Given the description of an element on the screen output the (x, y) to click on. 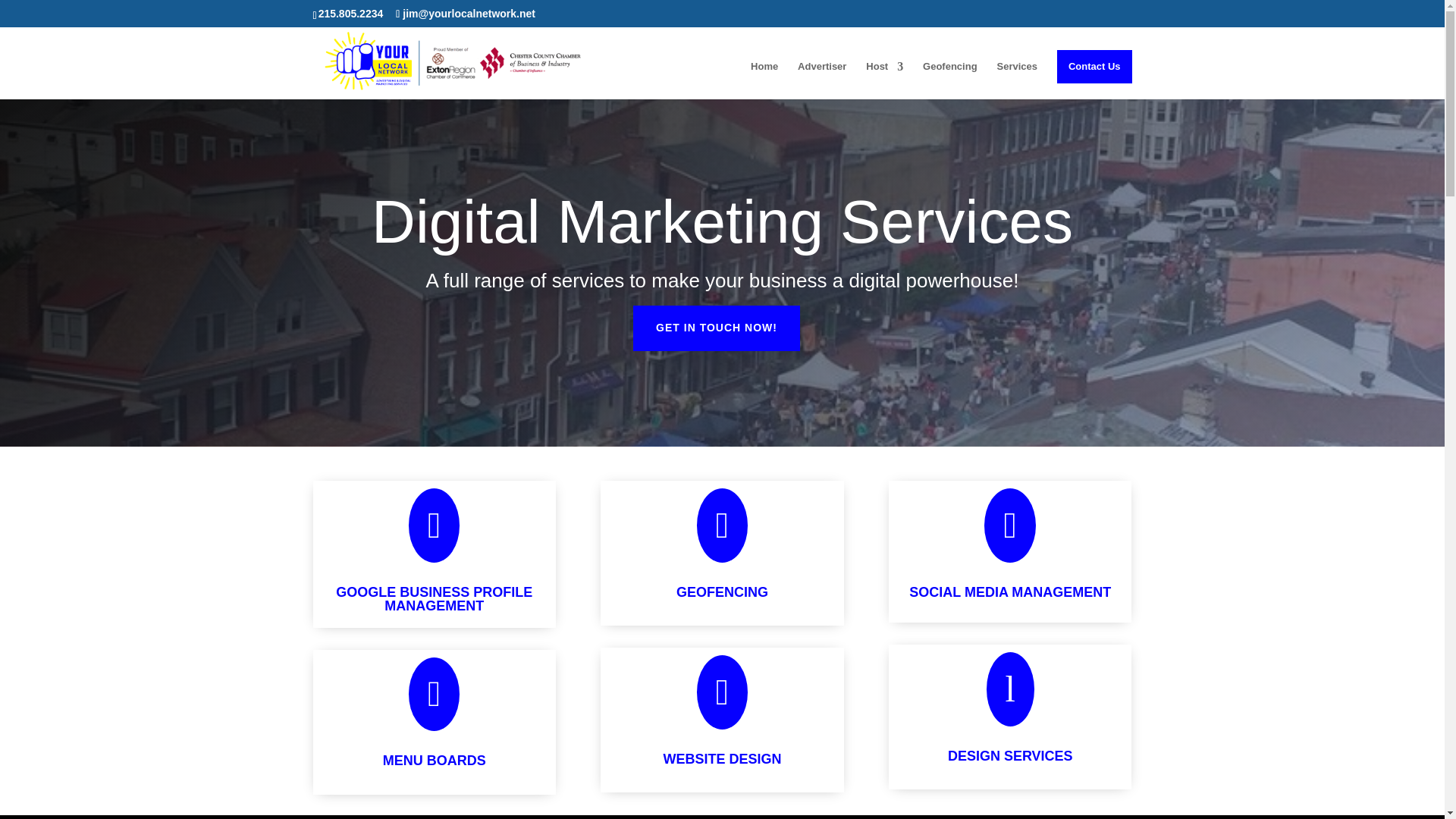
Geofencing (949, 80)
GET IN TOUCH NOW! (716, 328)
Advertiser (821, 80)
GEOFENCING (722, 591)
DESIGN SERVICES (1010, 755)
GOOGLE BUSINESS PROFILE MANAGEMENT (434, 598)
215.805.2234 (351, 13)
WEBSITE DESIGN (721, 758)
Contact Us (1094, 66)
Host (884, 80)
